Given the description of an element on the screen output the (x, y) to click on. 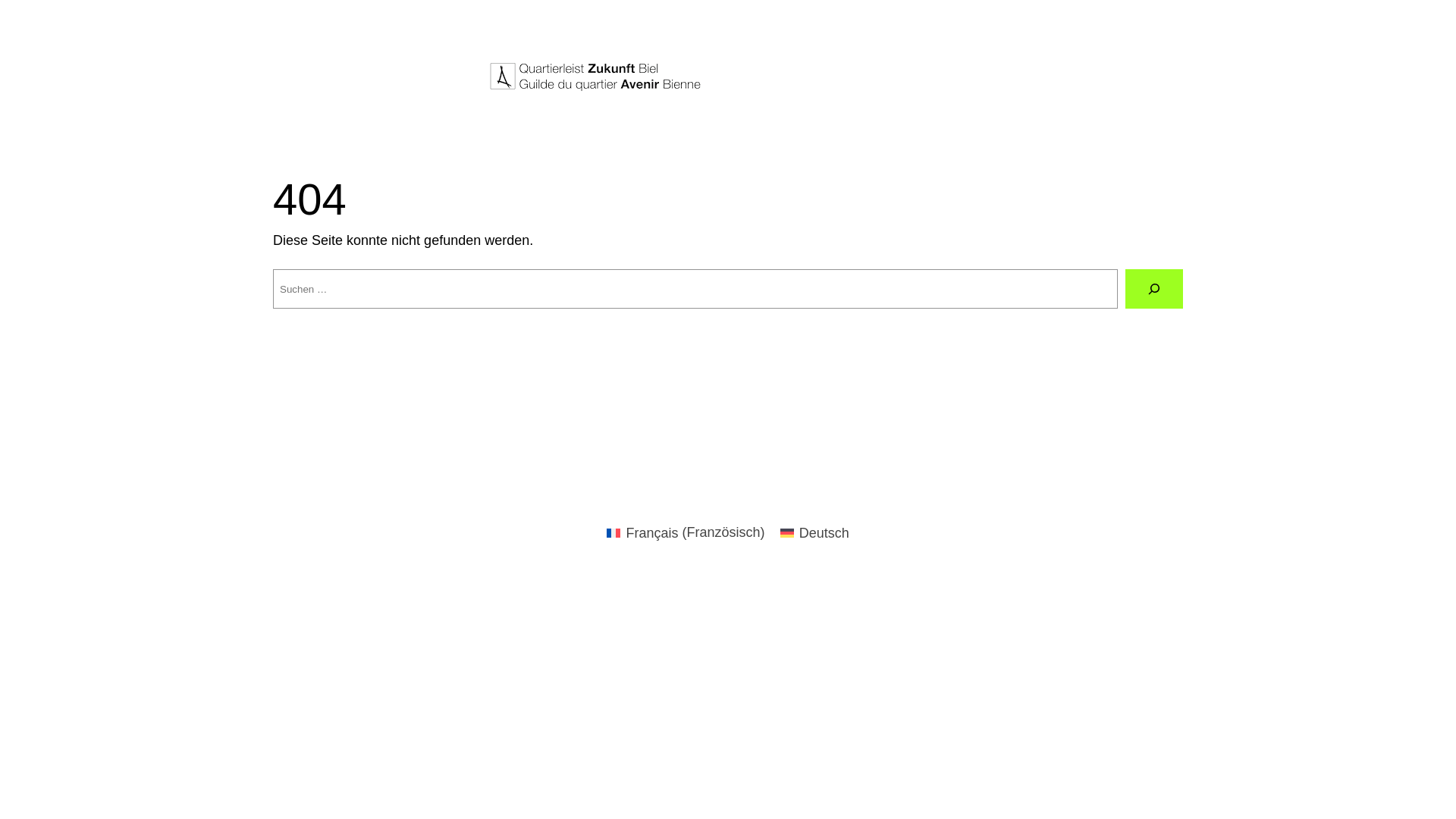
Deutsch Element type: text (813, 531)
